Given the description of an element on the screen output the (x, y) to click on. 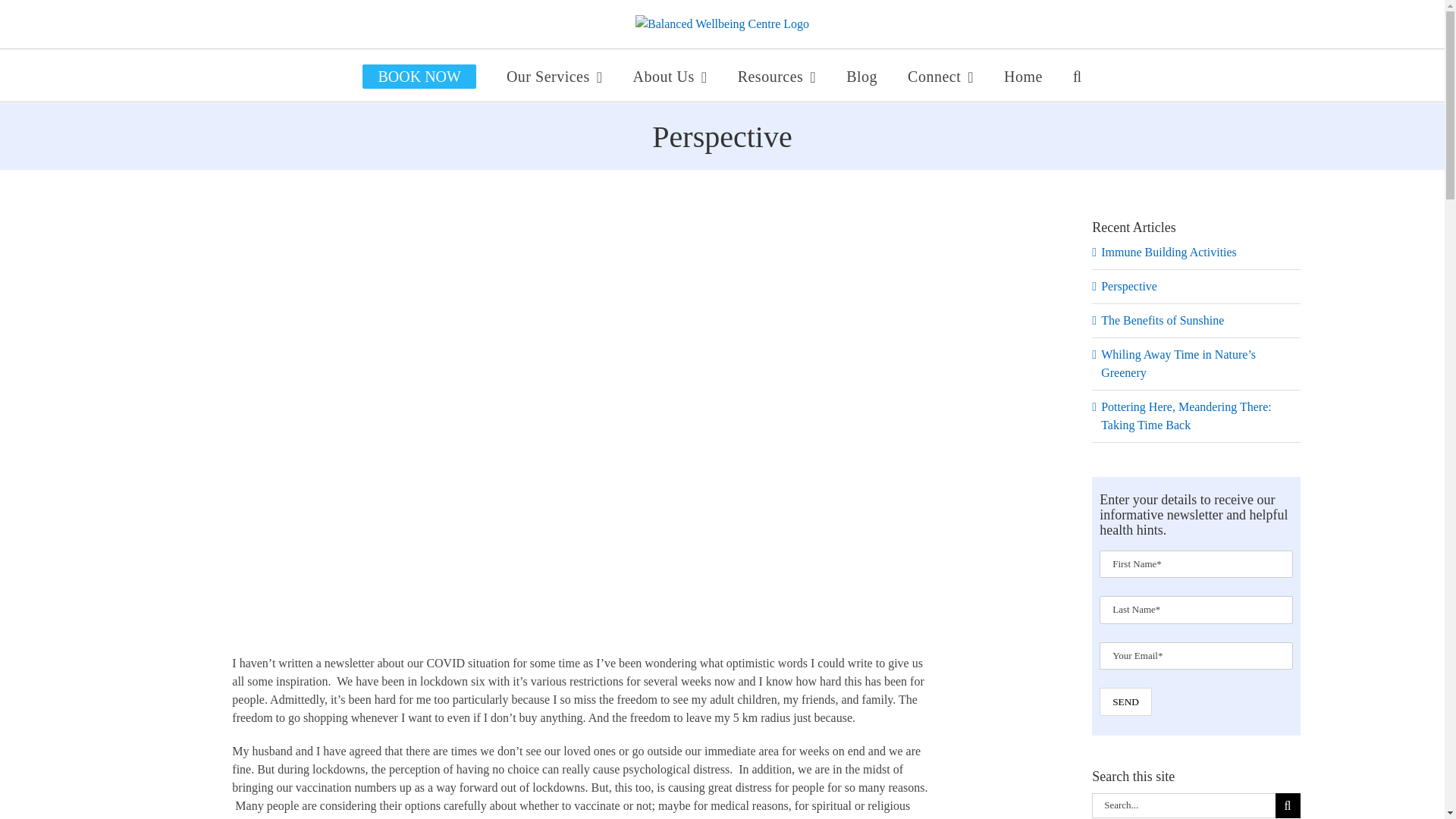
BOOK NOW (419, 75)
SEND (1125, 701)
About Us (670, 75)
Resources (777, 75)
Connect (940, 75)
Our Services (554, 75)
